Given the description of an element on the screen output the (x, y) to click on. 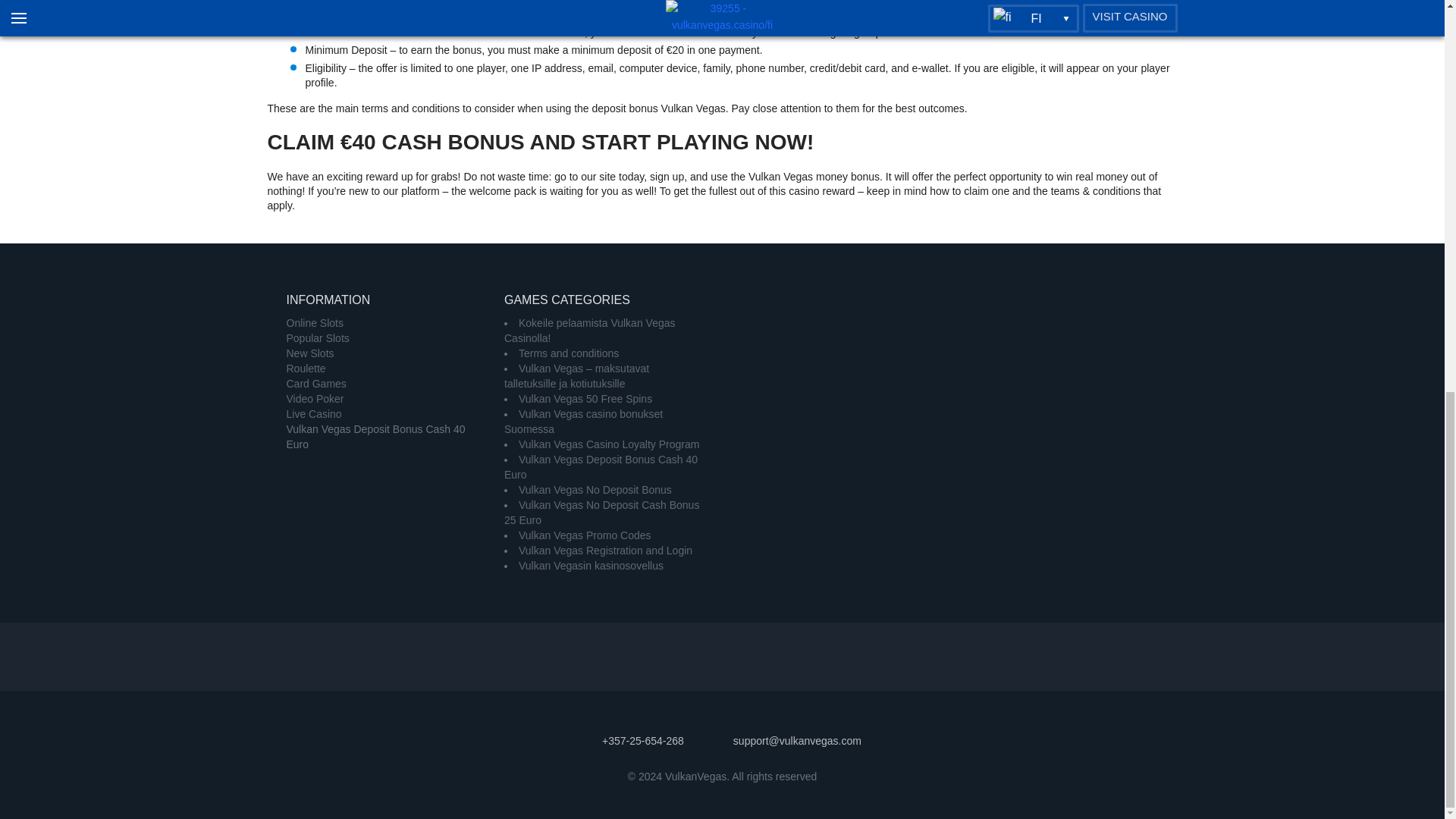
Roulette (306, 368)
Kokeile pelaamista Vulkan Vegas Casinolla! (589, 329)
Card Games (316, 383)
Popular Slots (317, 337)
Online Slots (314, 322)
Video Poker (314, 398)
Vulkan Vegas casino bonukset Suomessa (582, 420)
Terms and conditions (568, 353)
Live Casino (314, 413)
New Slots (310, 353)
